Given the description of an element on the screen output the (x, y) to click on. 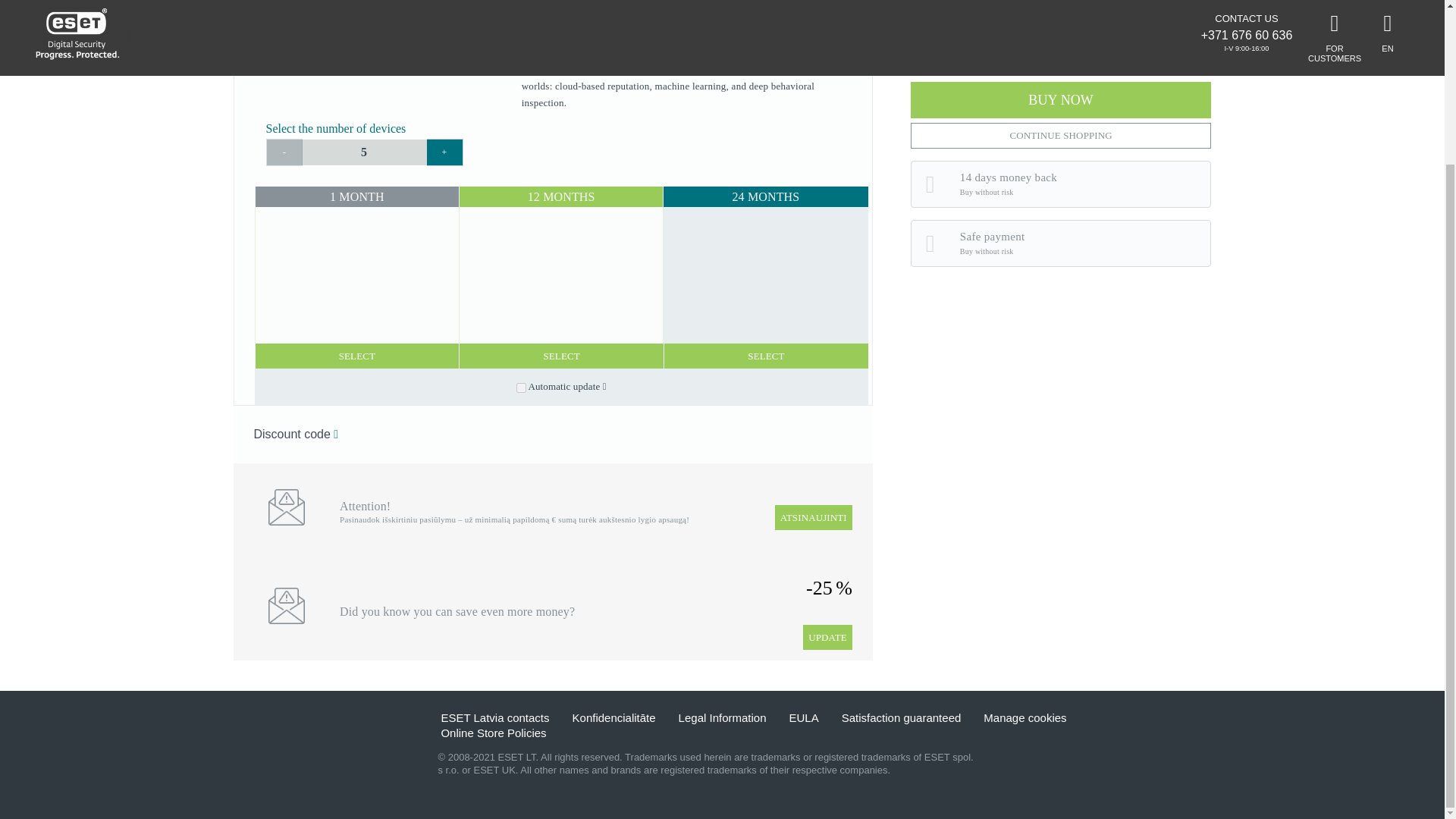
ATSINAUJINTI (812, 517)
SELECT (765, 355)
au (520, 388)
5 (363, 152)
ESET Latvia contacts (494, 717)
UPDATE (827, 637)
EULA (803, 717)
CONTINUE SHOPPING (1061, 135)
You can hold this button to decrease faster (282, 152)
Manage cookies (1024, 717)
